Given the description of an element on the screen output the (x, y) to click on. 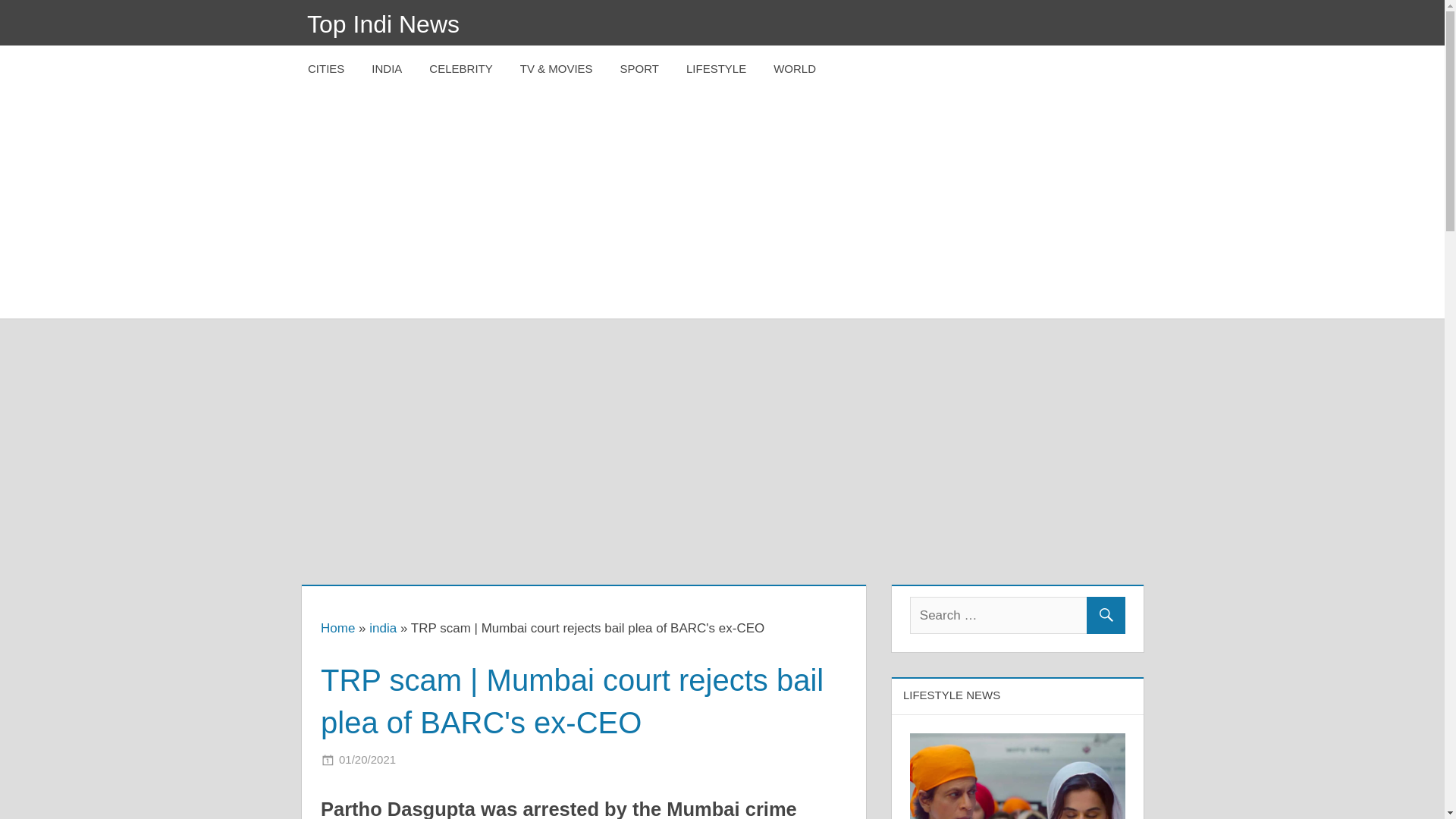
Dunki Drop 5: SRK to romance Taapsee in a brand new song (1017, 582)
CITIES (326, 68)
13:00 (367, 533)
Home (337, 401)
Dunki Drop 5: SRK to romance Taapsee in a brand new song (993, 678)
INDIA (386, 68)
LIFESTYLE (716, 68)
CELEBRITY (459, 68)
Search for: (1017, 389)
WORLD (794, 68)
